Given the description of an element on the screen output the (x, y) to click on. 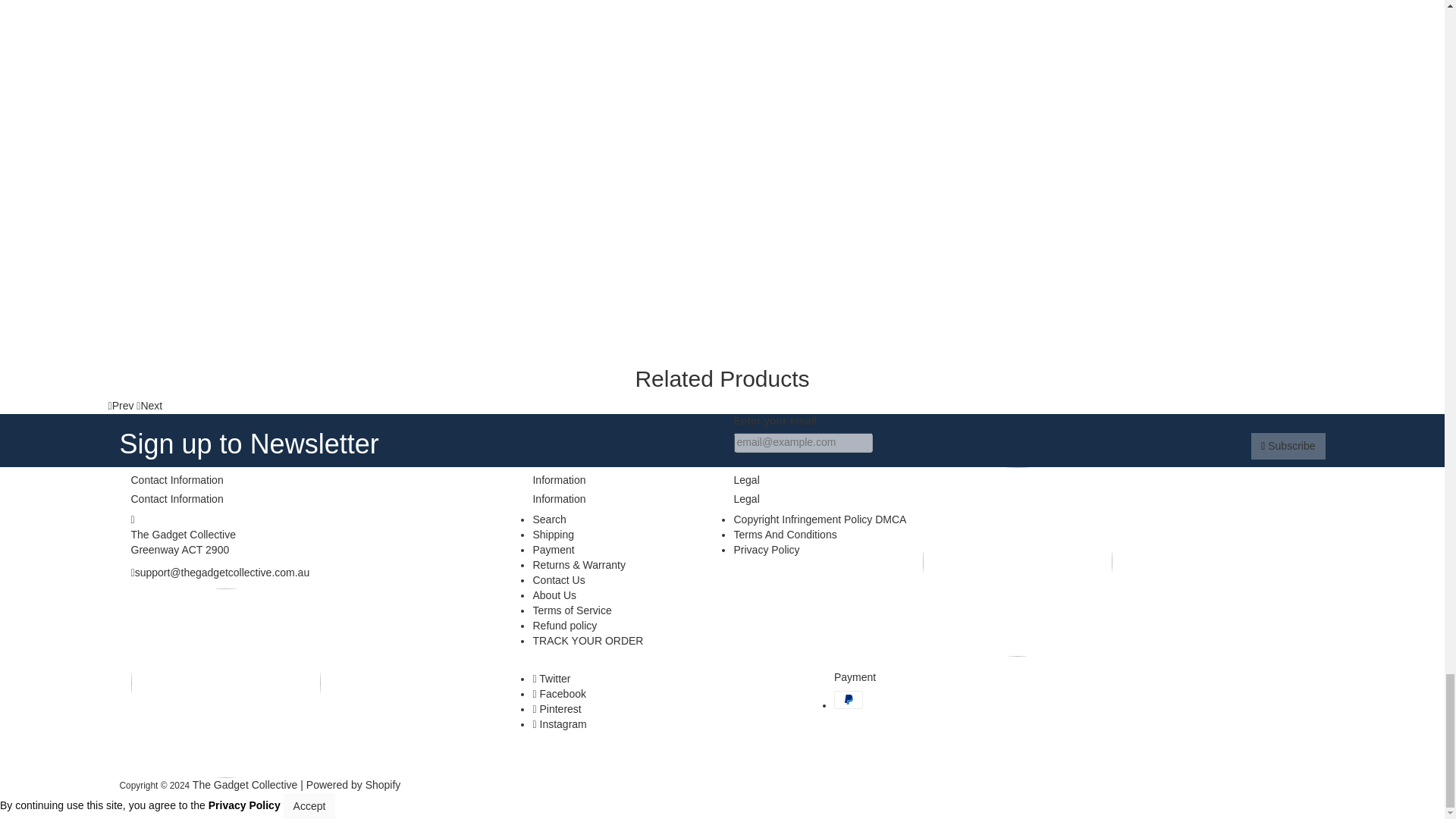
PayPal (848, 700)
